Given the description of an element on the screen output the (x, y) to click on. 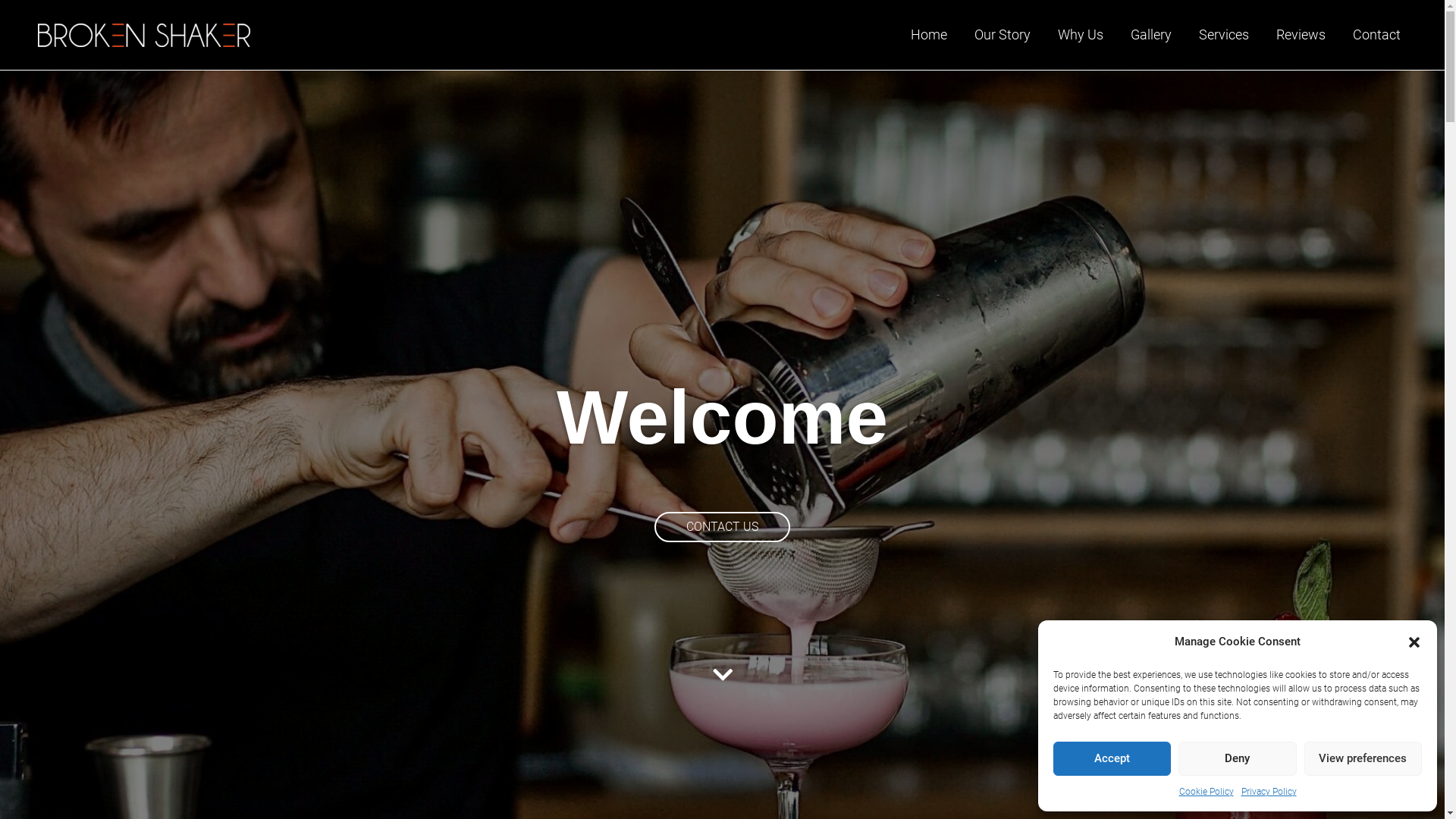
Services Element type: text (1223, 34)
Privacy Policy Element type: text (1267, 791)
Cookie Policy Element type: text (1205, 791)
View preferences Element type: text (1362, 758)
Accept Element type: text (1111, 758)
Home Element type: text (928, 34)
Why Us Element type: text (1080, 34)
Deny Element type: text (1236, 758)
Reviews Element type: text (1300, 34)
Our Story Element type: text (1002, 34)
Contact Element type: text (1376, 34)
Gallery Element type: text (1151, 34)
CONTACT US Element type: text (722, 526)
